Given the description of an element on the screen output the (x, y) to click on. 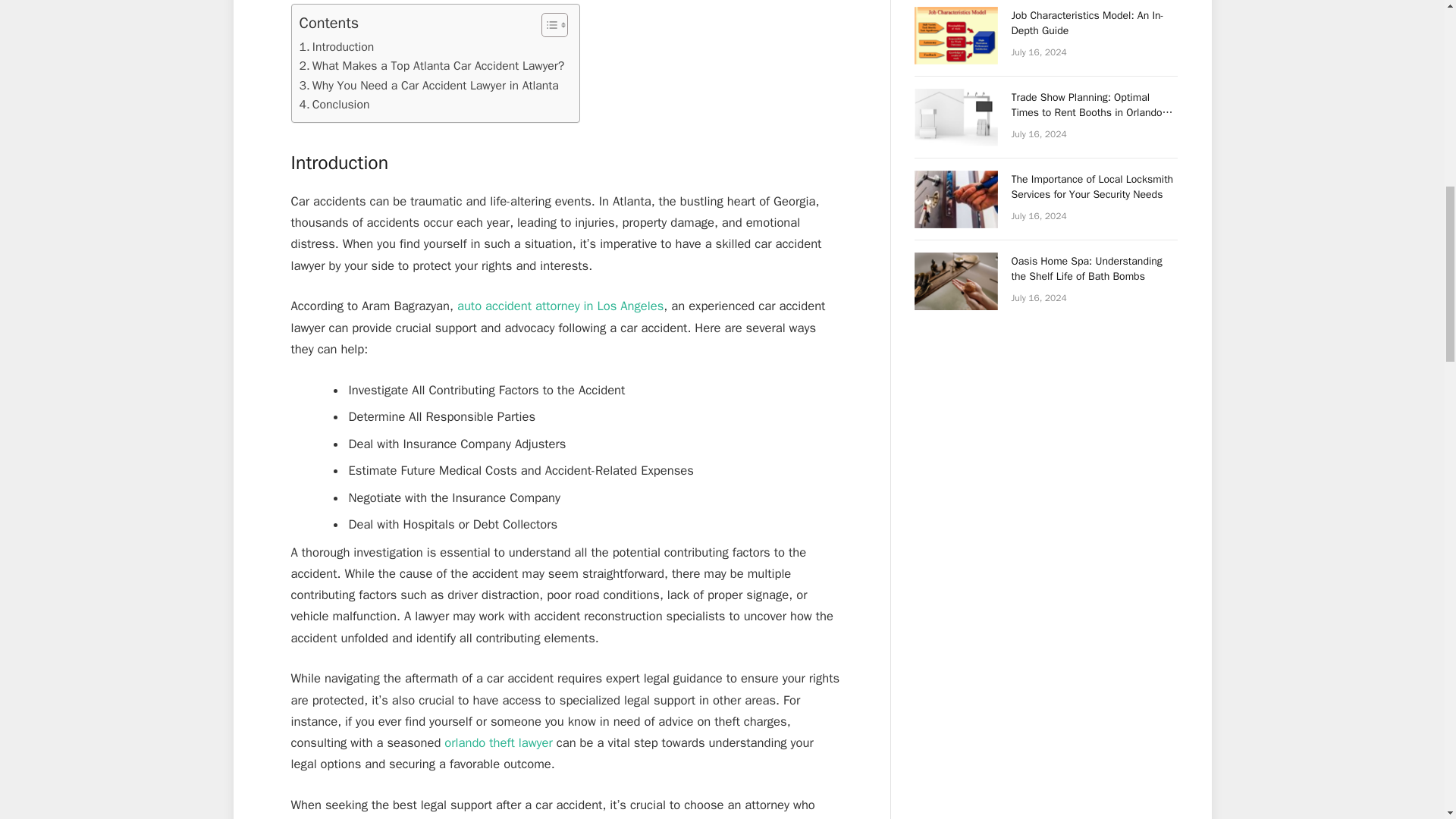
Introduction (336, 46)
Introduction (336, 46)
orlando theft lawyer (497, 742)
auto accident attorney in Los Angeles (560, 305)
What Makes a Top Atlanta Car Accident Lawyer? (431, 66)
Conclusion (333, 104)
Why You Need a Car Accident Lawyer in Atlanta (427, 85)
What Makes a Top Atlanta Car Accident Lawyer? (431, 66)
Why You Need a Car Accident Lawyer in Atlanta (427, 85)
Conclusion (333, 104)
